Given the description of an element on the screen output the (x, y) to click on. 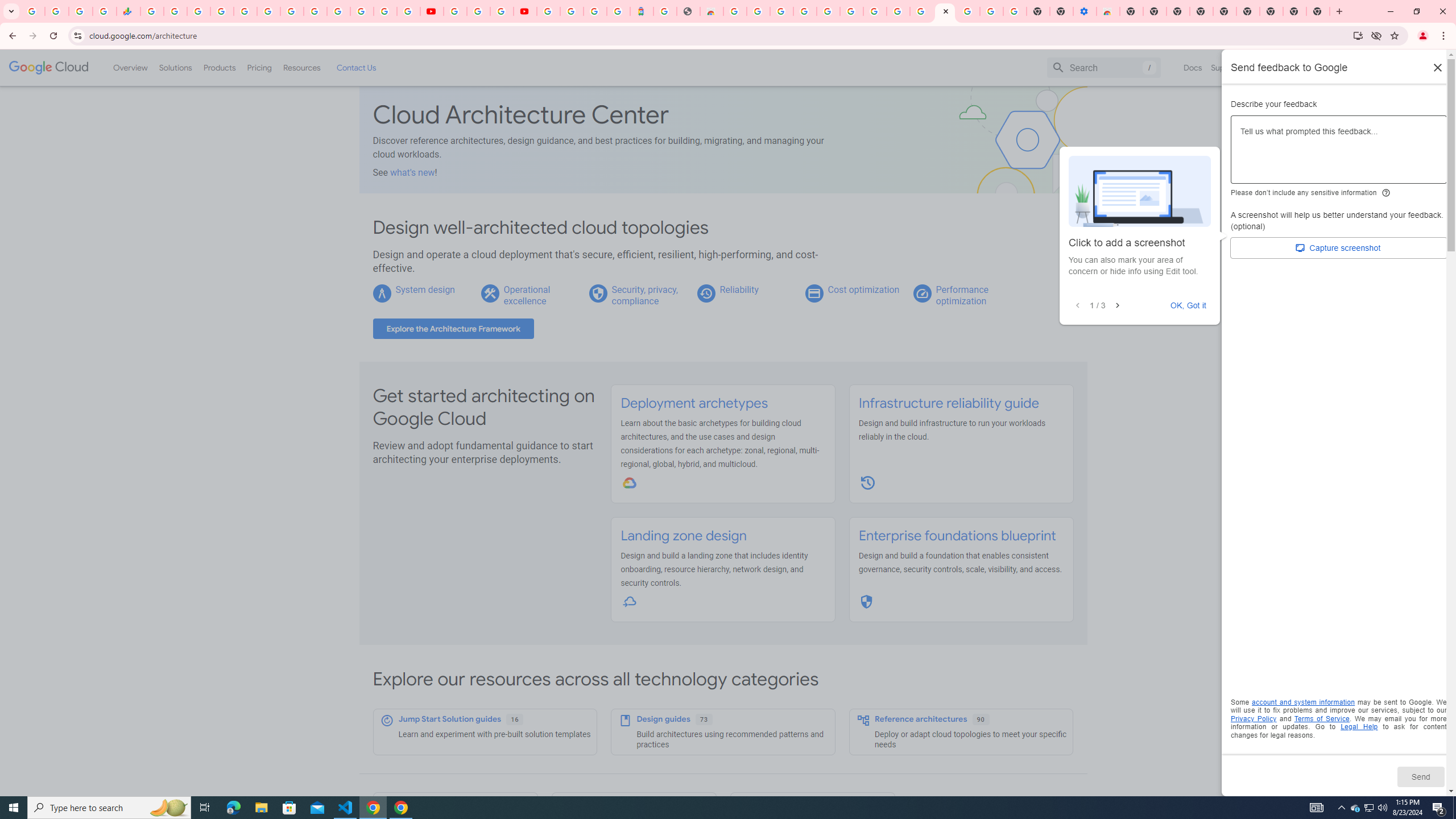
Landing zone design (683, 535)
Describe your feedback (1338, 153)
Sign in - Google Accounts (968, 11)
Settings - Accessibility (1085, 11)
Operational excellence (526, 295)
Chrome Web Store - Accessibility extensions (1108, 11)
Privacy Checkup (408, 11)
Atour Hotel - Google hotels (641, 11)
what's new (412, 172)
Opens in a new tab. Terms of Service (1321, 718)
